Given the description of an element on the screen output the (x, y) to click on. 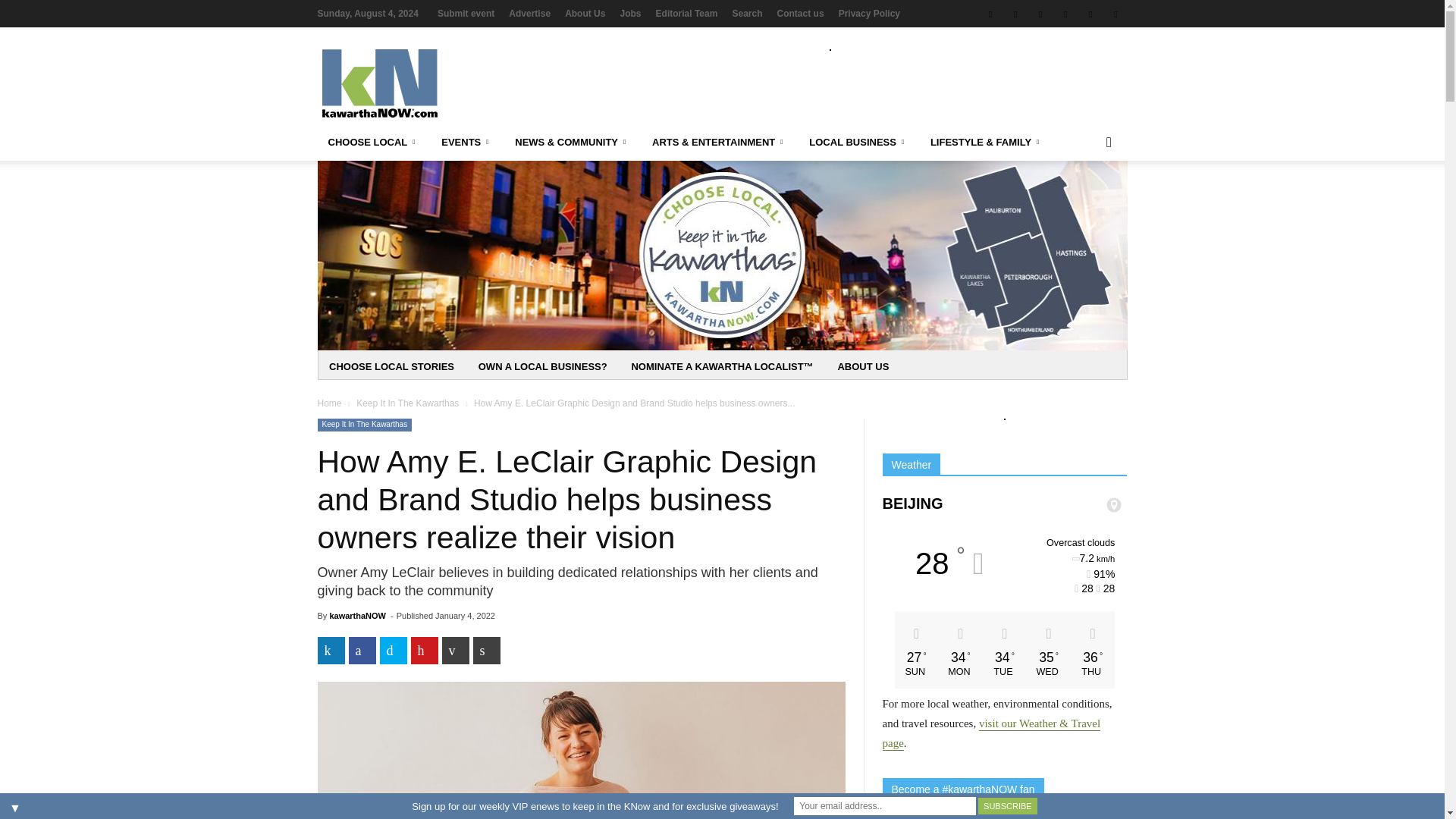
RSS (1114, 13)
About Us (584, 13)
Jobs (631, 13)
Editorial Team (686, 13)
Advertise (529, 13)
Facebook (989, 13)
Privacy Policy (868, 13)
Instagram (1015, 13)
Twitter (1040, 13)
Contact us (800, 13)
Submit event (466, 13)
Subscribe (1007, 805)
kawarthaNOW.com (424, 83)
Linkedin (1065, 13)
Pinterest (1090, 13)
